Given the description of an element on the screen output the (x, y) to click on. 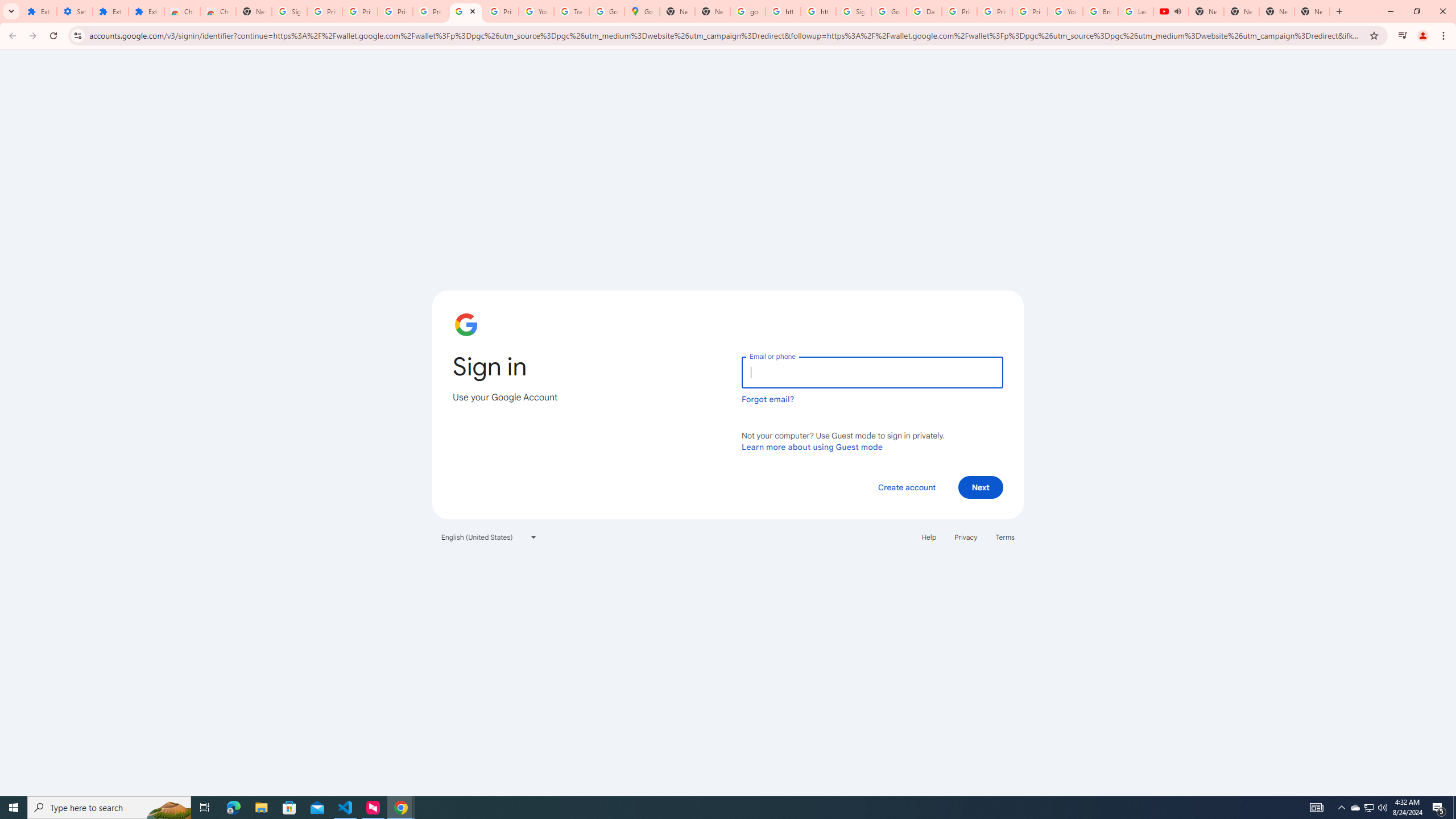
New Tab (253, 11)
Privacy Help Center - Policies Help (994, 11)
New Tab (1312, 11)
Learn more about using Guest mode (812, 446)
Sign in - Google Accounts (853, 11)
